Given the description of an element on the screen output the (x, y) to click on. 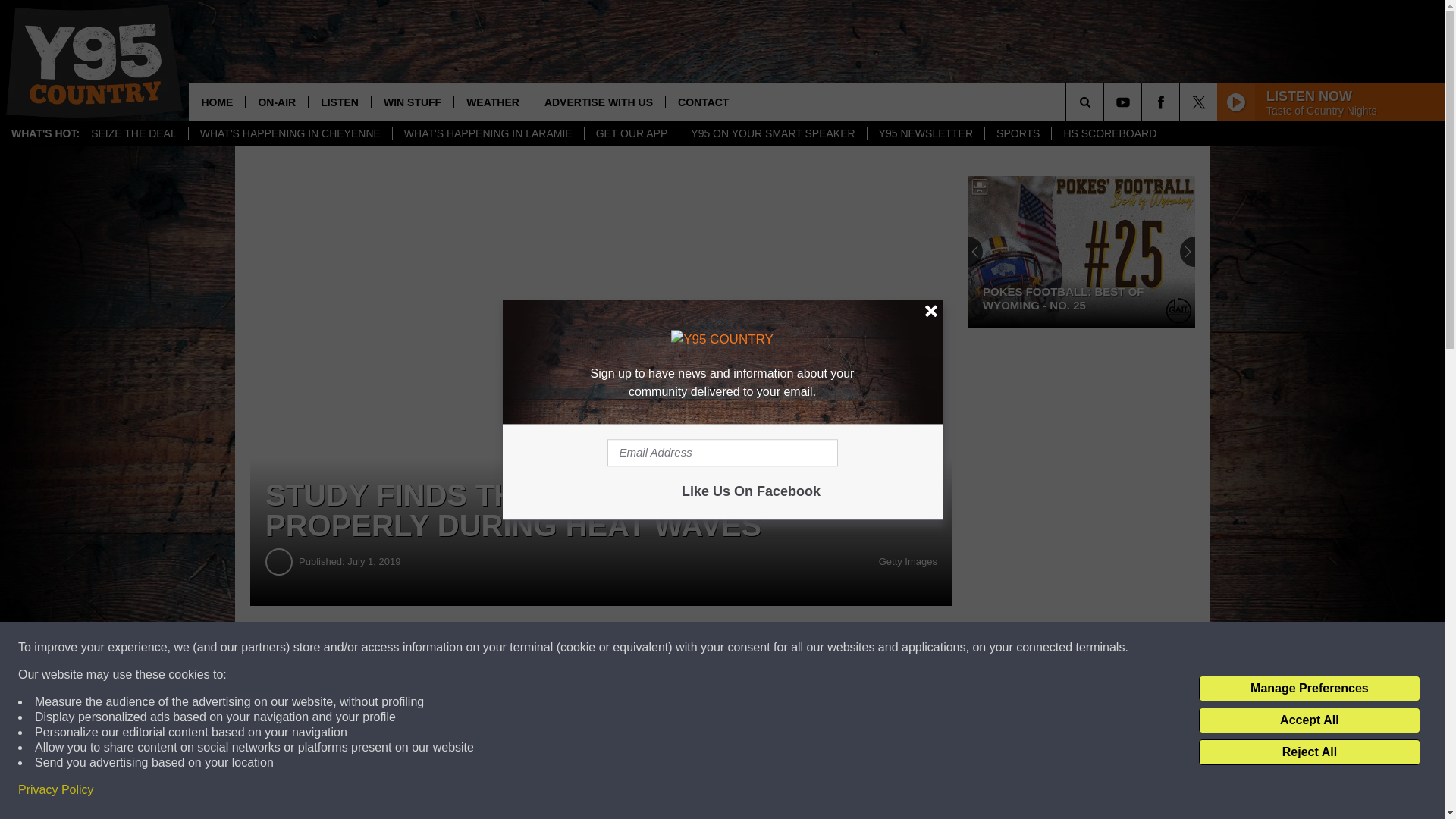
HS SCOREBOARD (1109, 133)
Share on Twitter (741, 647)
GET OUR APP (631, 133)
Reject All (1309, 751)
HOME (216, 102)
ADVERTISE WITH US (598, 102)
WHAT'S HAPPENING IN CHEYENNE (289, 133)
WIN STUFF (411, 102)
Email Address (722, 452)
SEARCH (1106, 102)
Manage Preferences (1309, 688)
LISTEN (339, 102)
SPORTS (1017, 133)
Y95 ON YOUR SMART SPEAKER (772, 133)
ON-AIR (275, 102)
